Given the description of an element on the screen output the (x, y) to click on. 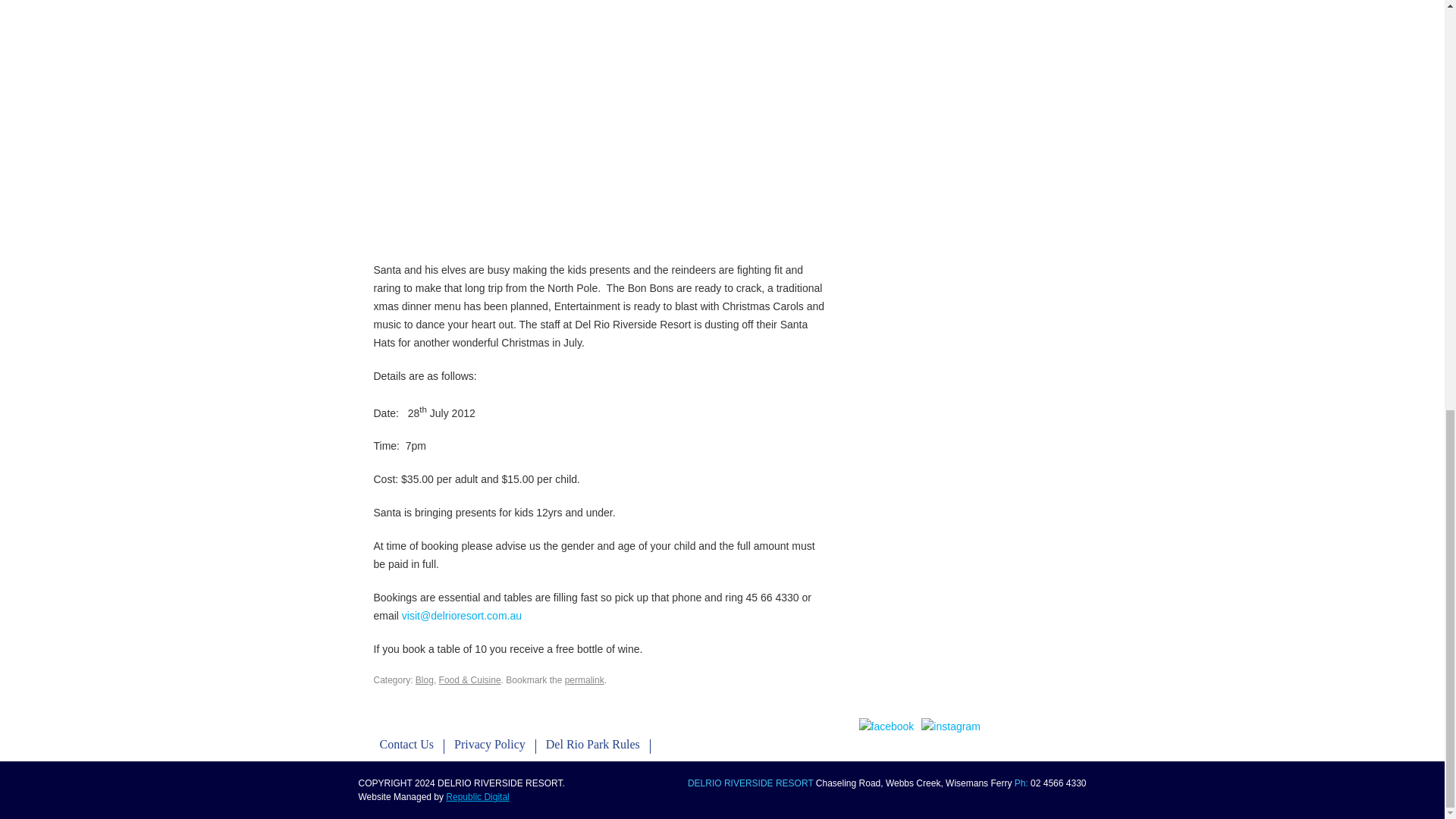
Christmasfunny (600, 122)
Permalink to Christmas in July 2012 (584, 680)
Facebook (886, 725)
Instagram (950, 725)
